Given the description of an element on the screen output the (x, y) to click on. 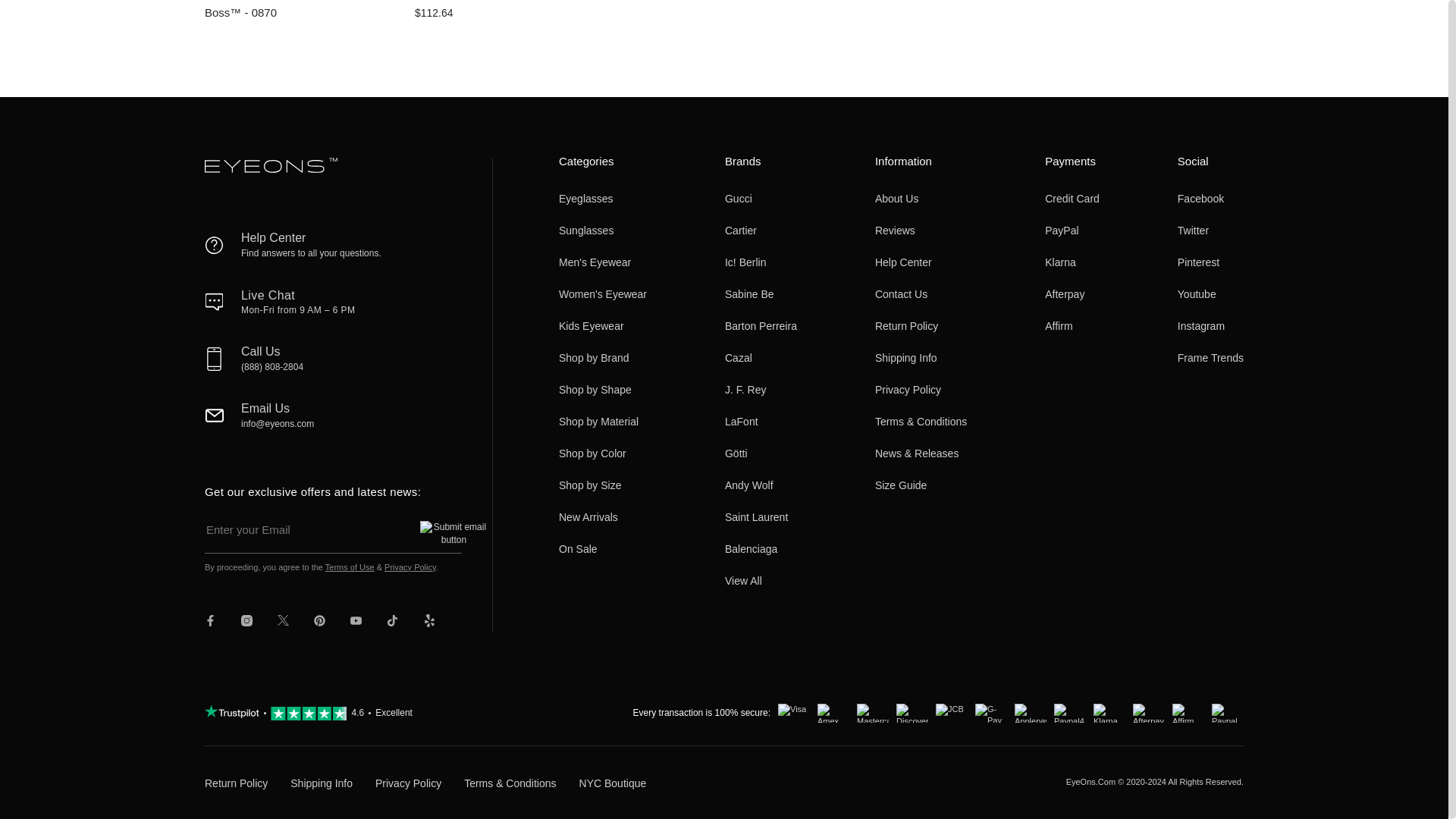
EyeOns.com (271, 169)
